Given the description of an element on the screen output the (x, y) to click on. 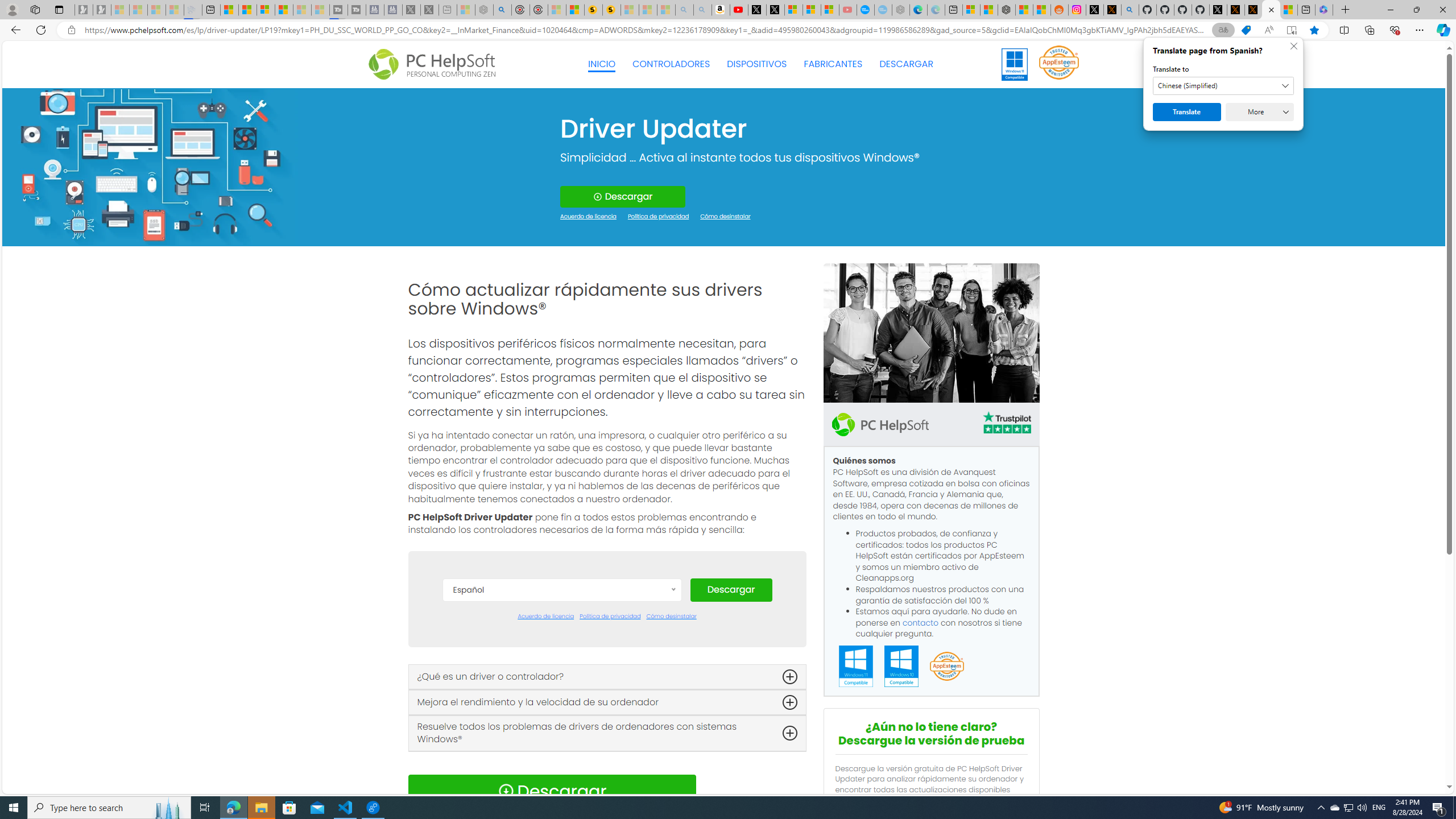
DISPOSITIVOS (756, 64)
